Given the description of an element on the screen output the (x, y) to click on. 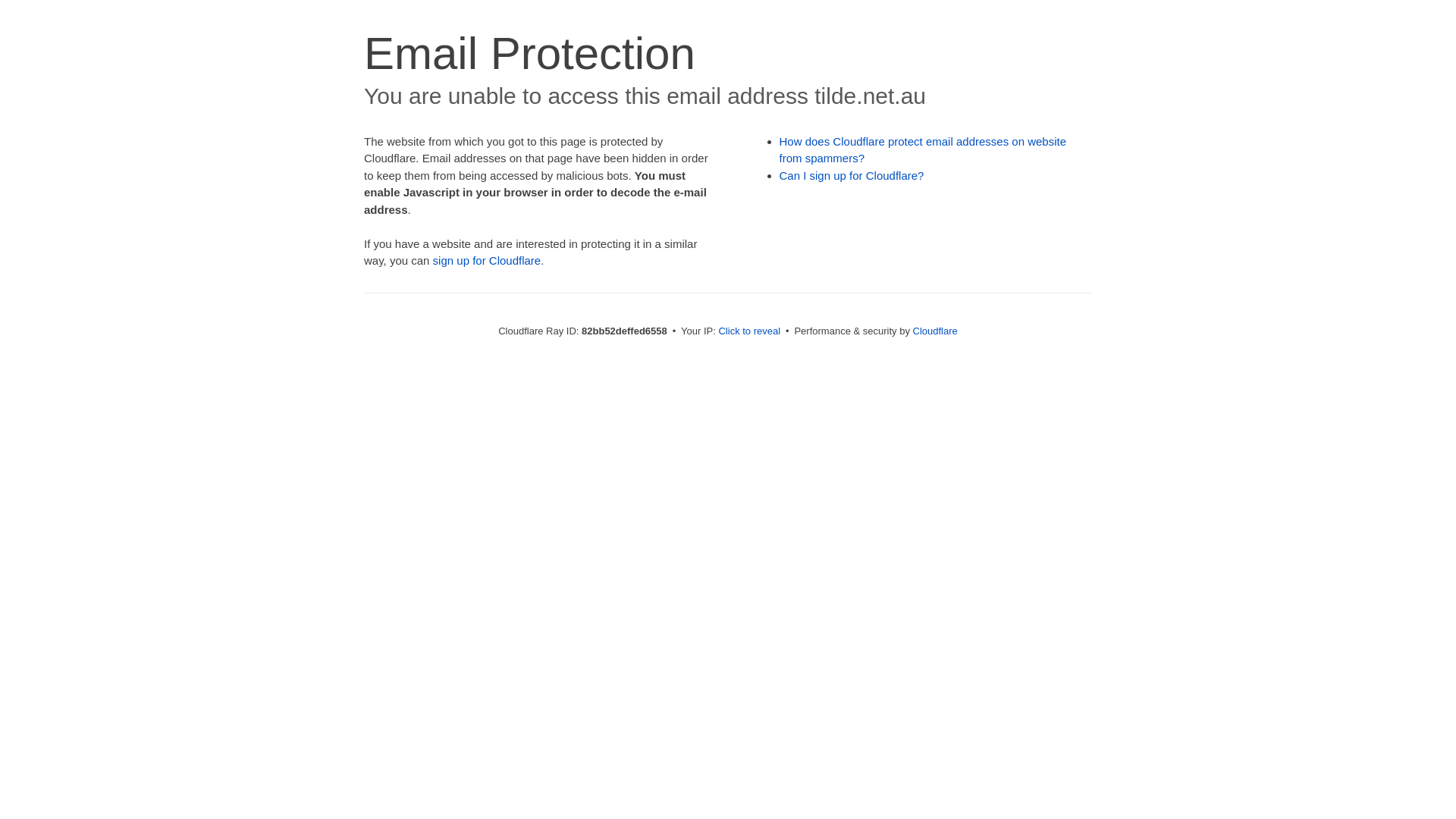
Cloudflare Element type: text (935, 330)
Can I sign up for Cloudflare? Element type: text (851, 175)
sign up for Cloudflare Element type: text (487, 260)
Click to reveal Element type: text (749, 330)
